Given the description of an element on the screen output the (x, y) to click on. 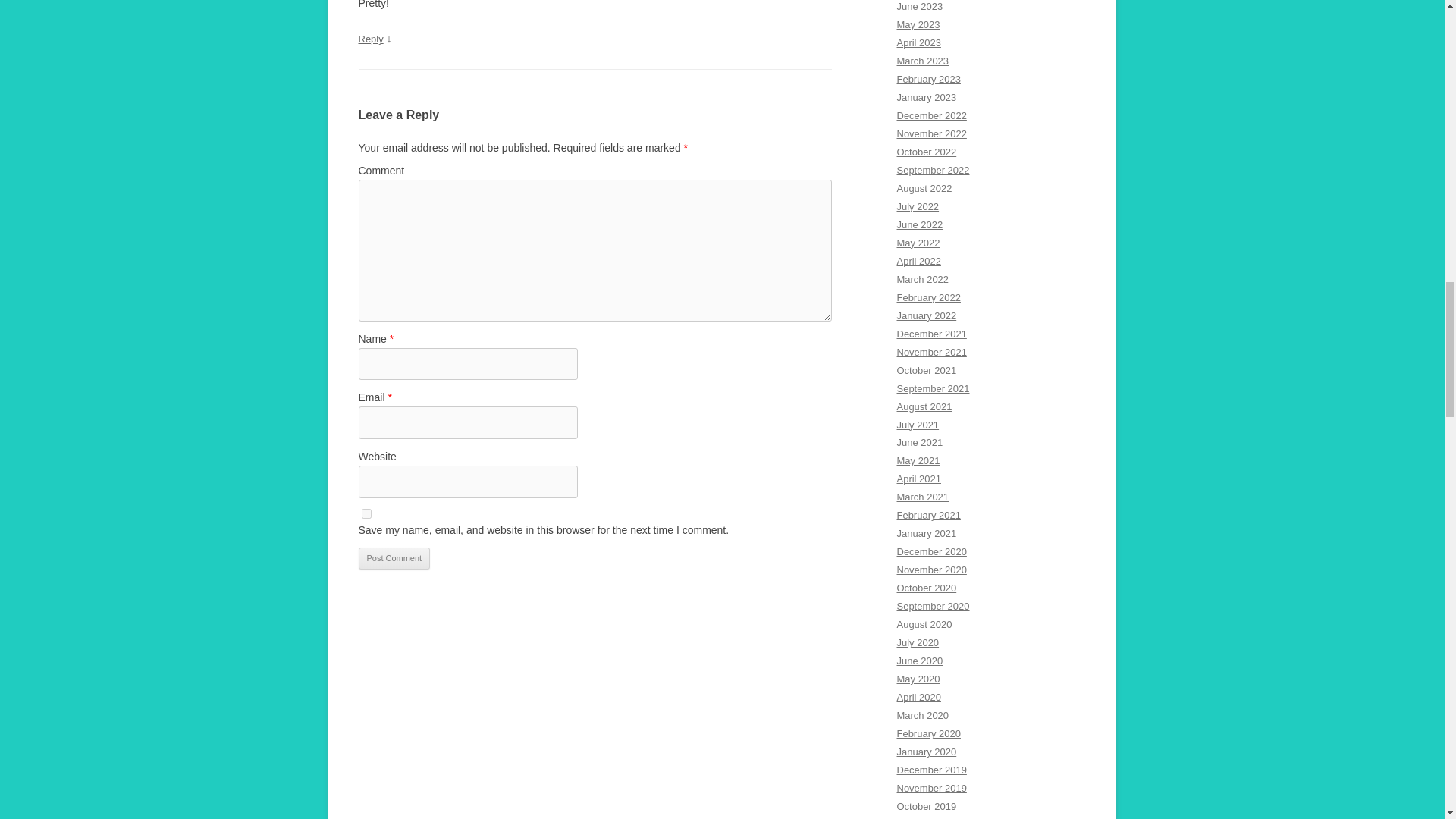
Post Comment (393, 558)
yes (366, 513)
Reply (370, 39)
Post Comment (393, 558)
